Given the description of an element on the screen output the (x, y) to click on. 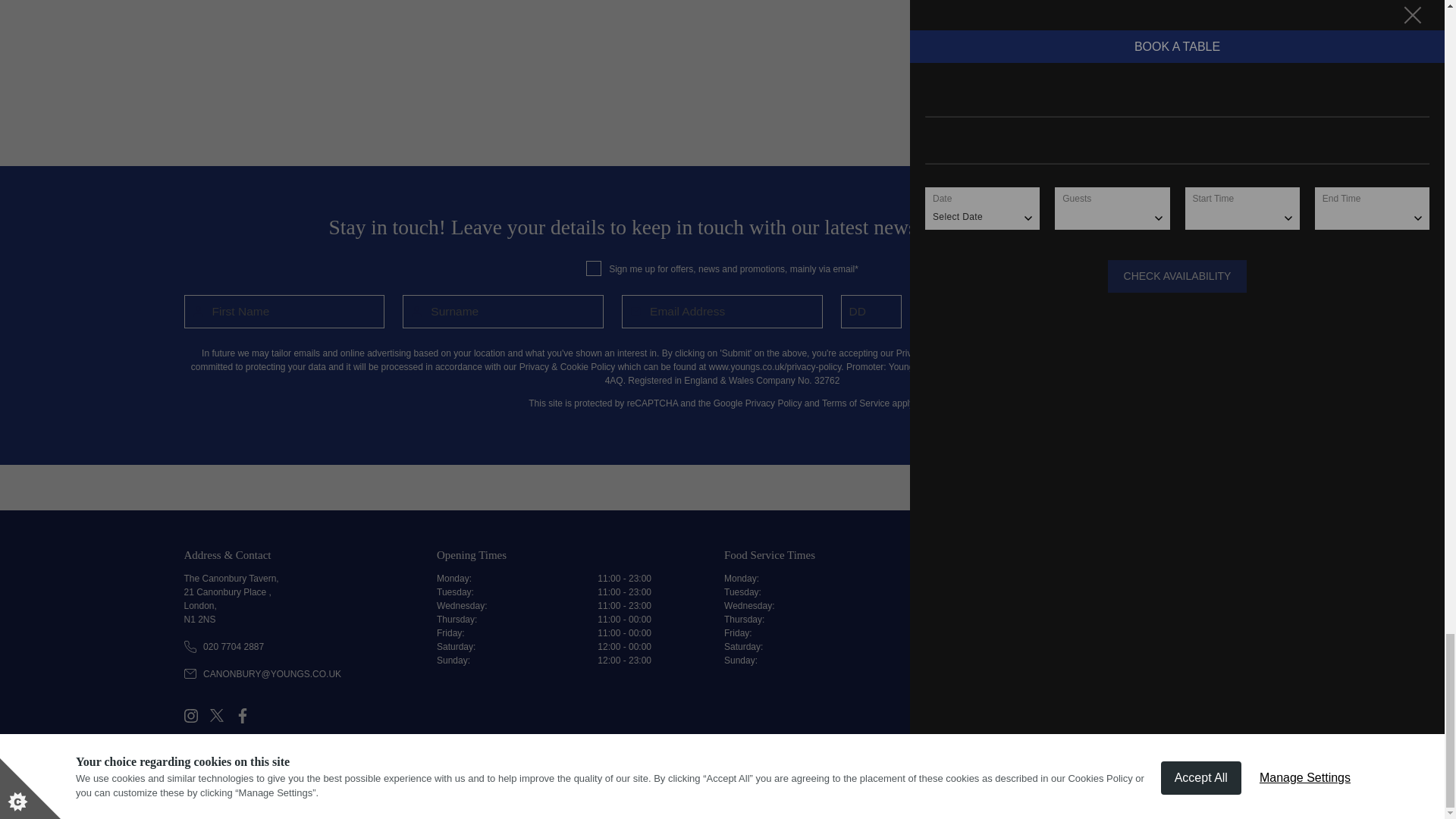
SUBMIT (1159, 310)
Want to work with us? Learn more here (1104, 766)
Privacy Policy (773, 403)
Read our Privacy Policy (1165, 766)
Visit the makers of this site (1232, 766)
true (593, 268)
Terms of Service (855, 403)
